Given the description of an element on the screen output the (x, y) to click on. 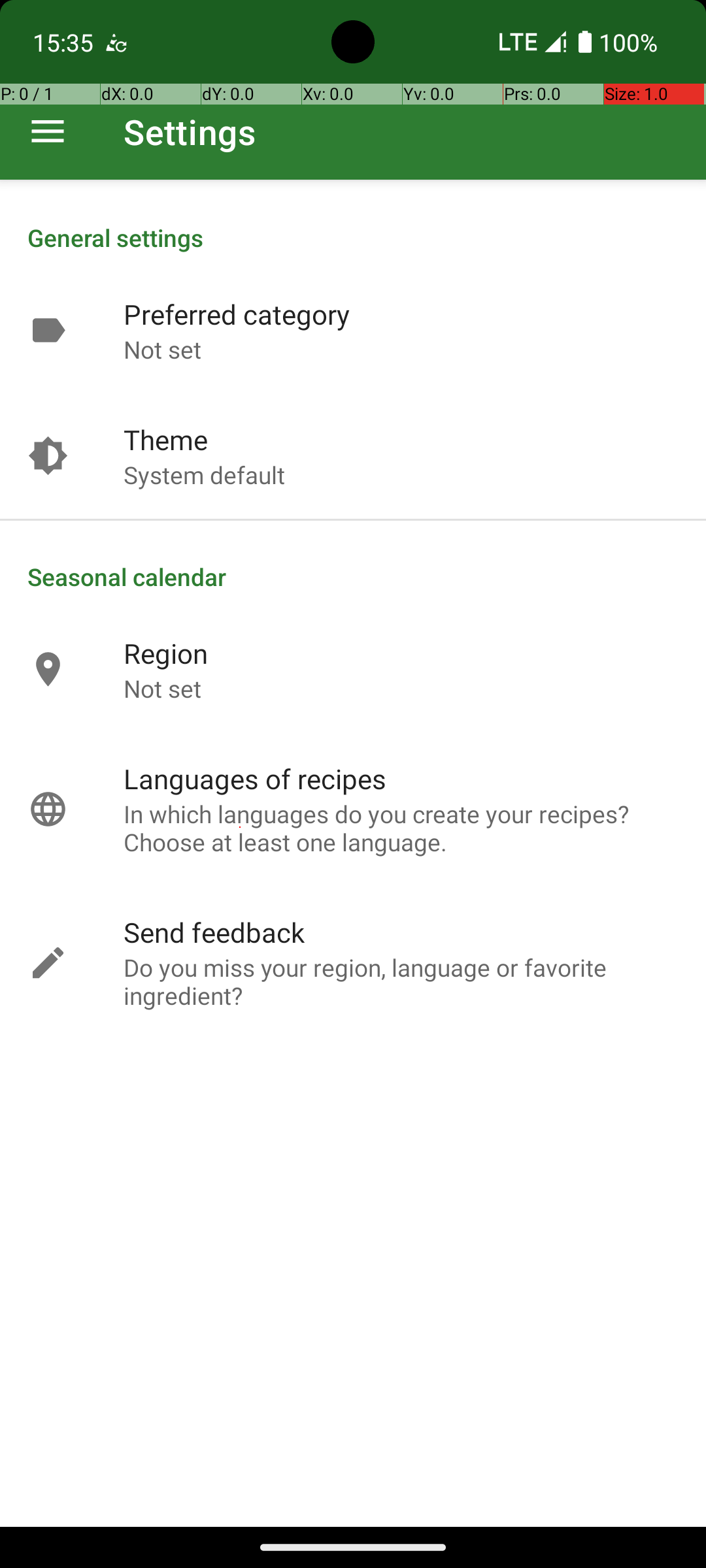
General settings Element type: android.widget.TextView (352, 237)
Preferred category Element type: android.widget.TextView (236, 313)
Not set Element type: android.widget.TextView (162, 348)
Seasonal calendar Element type: android.widget.TextView (352, 576)
Region Element type: android.widget.TextView (165, 652)
Languages of recipes Element type: android.widget.TextView (254, 778)
In which languages do you create your recipes? Choose at least one language. Element type: android.widget.TextView (400, 827)
Send feedback Element type: android.widget.TextView (213, 931)
Do you miss your region, language or favorite ingredient? Element type: android.widget.TextView (400, 981)
